Given the description of an element on the screen output the (x, y) to click on. 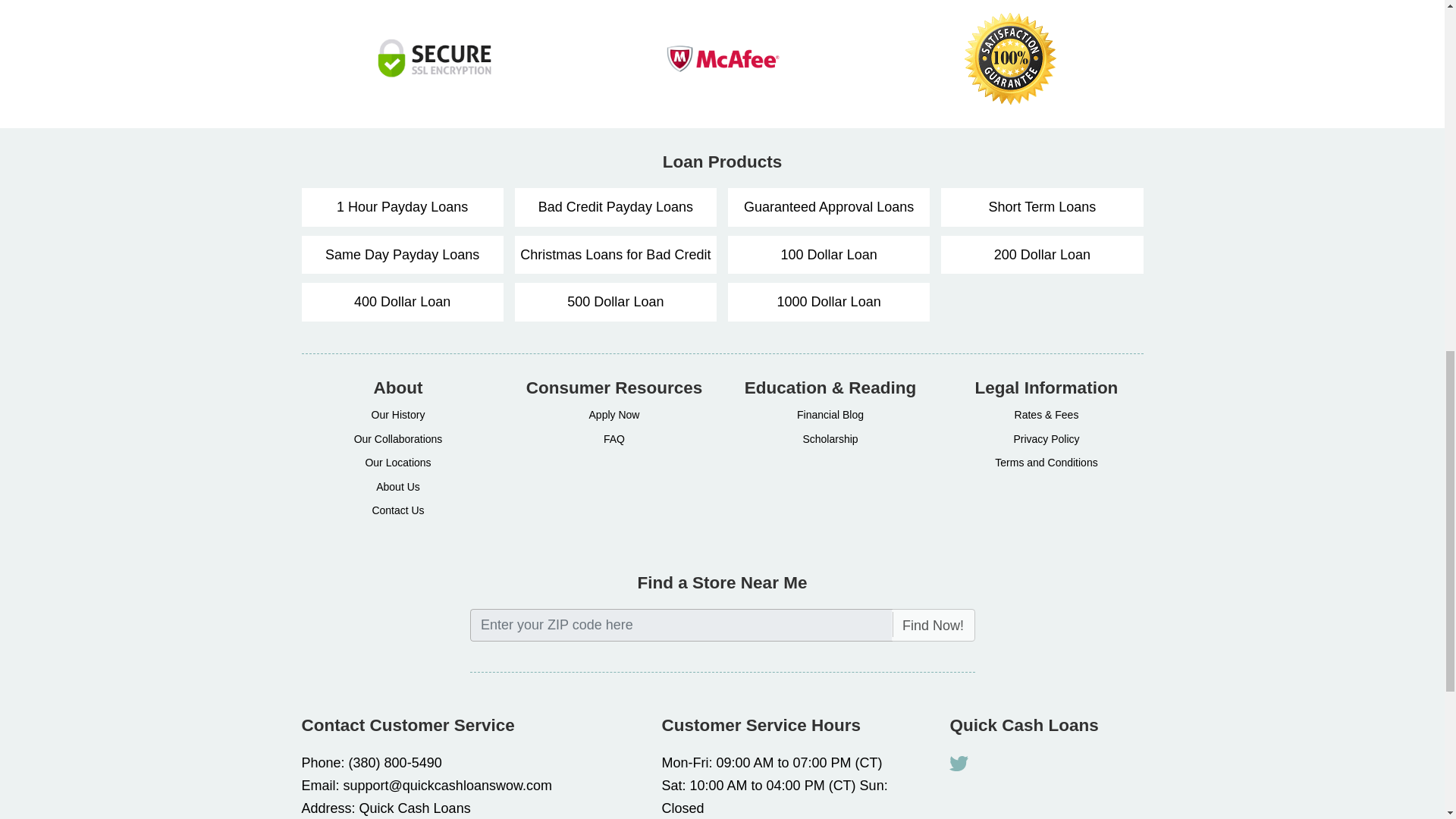
1 Hour Payday Loans (402, 207)
Guaranteed Approval Loans (829, 207)
Short Term Loans (1041, 207)
Bad Credit Payday Loans (615, 207)
Same Day Payday Loans (402, 254)
